Given the description of an element on the screen output the (x, y) to click on. 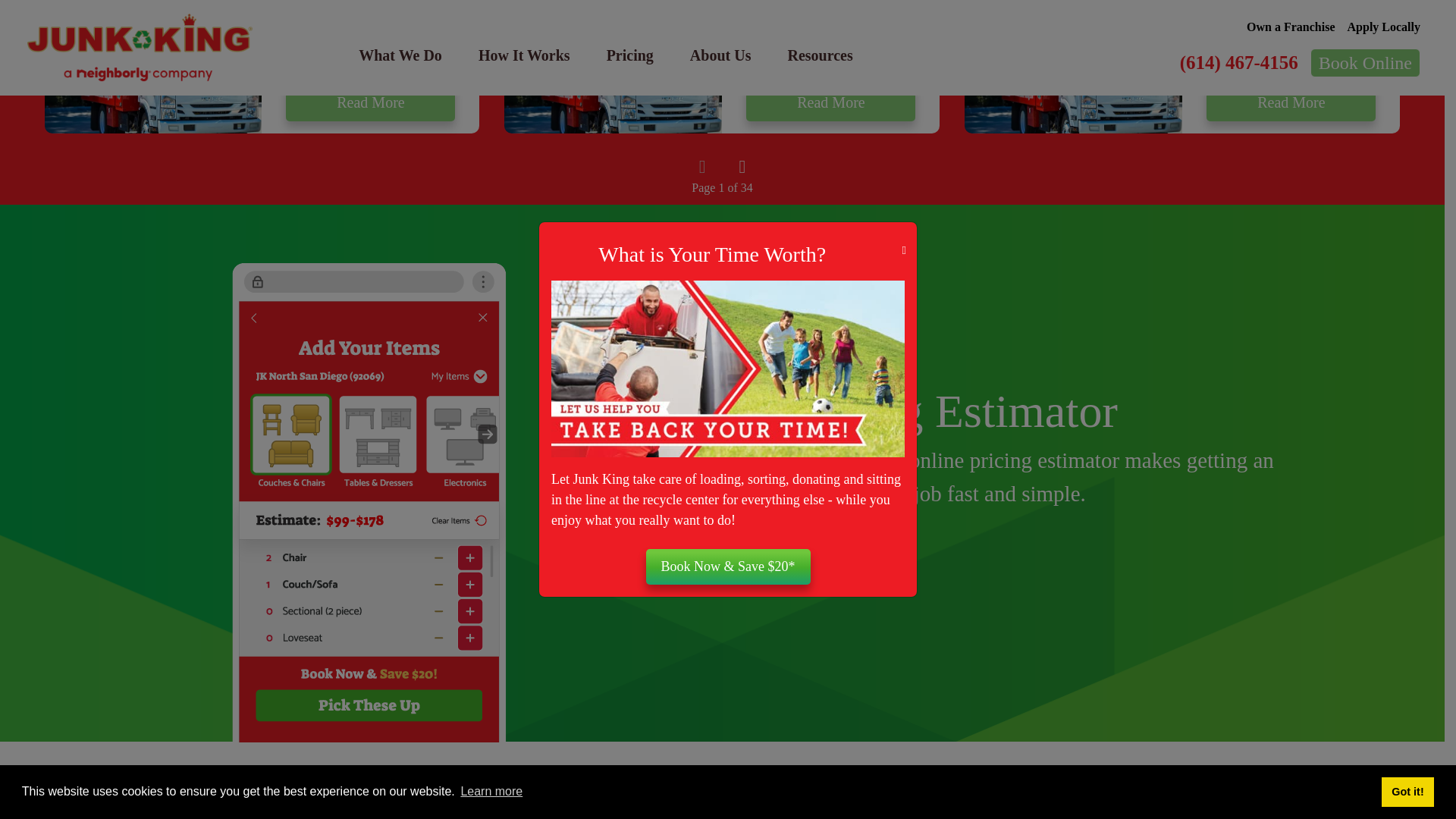
Footer (721, 792)
